Given the description of an element on the screen output the (x, y) to click on. 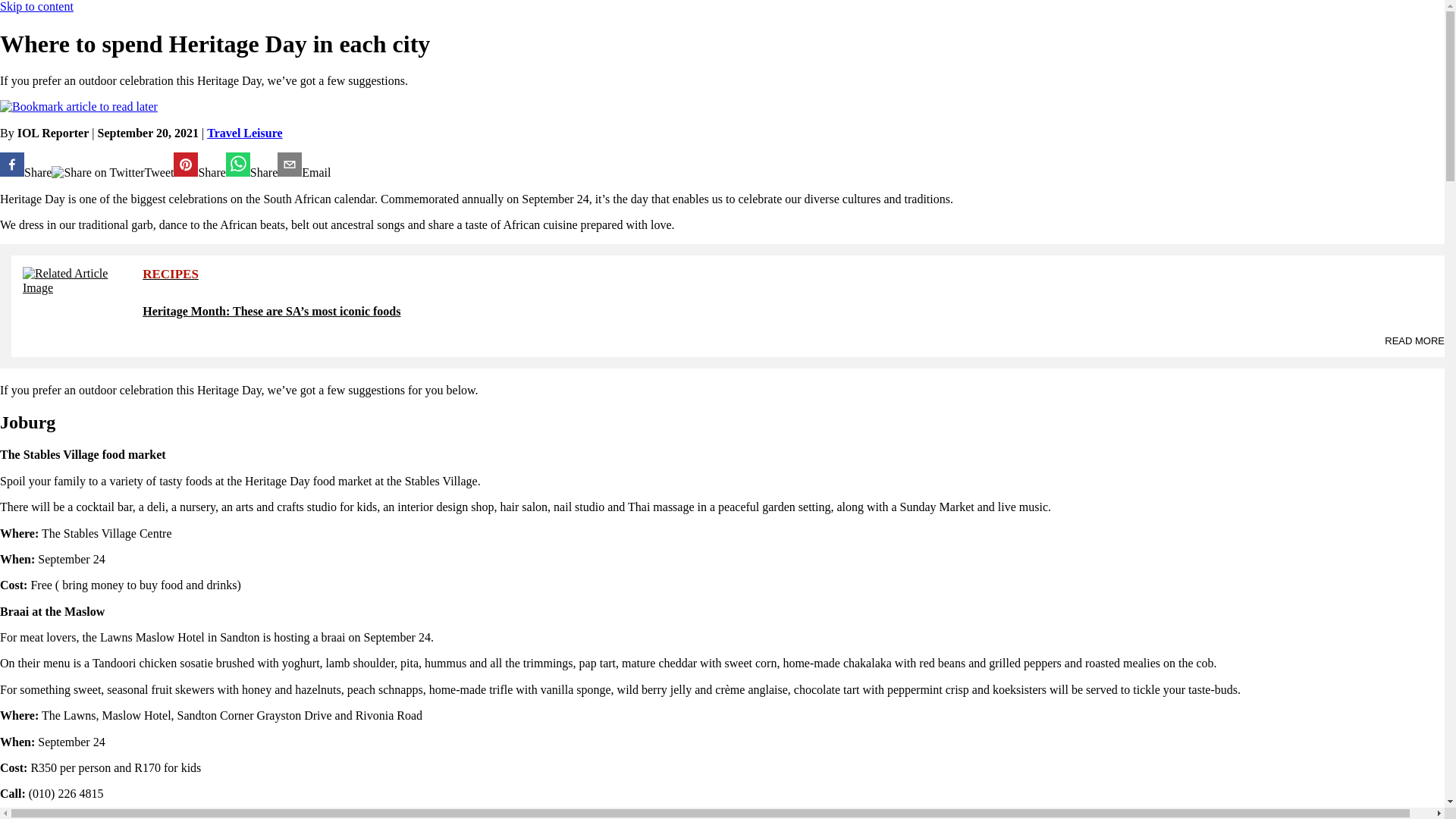
Share (251, 165)
Share on Twitter (97, 172)
Tweet (111, 172)
Skip to content (37, 6)
Where to spend Heritage Day in each city (304, 165)
Where to spend Heritage Day in each city (199, 165)
Share (25, 165)
Share (199, 165)
Email (304, 165)
Travel Leisure (244, 132)
